Given the description of an element on the screen output the (x, y) to click on. 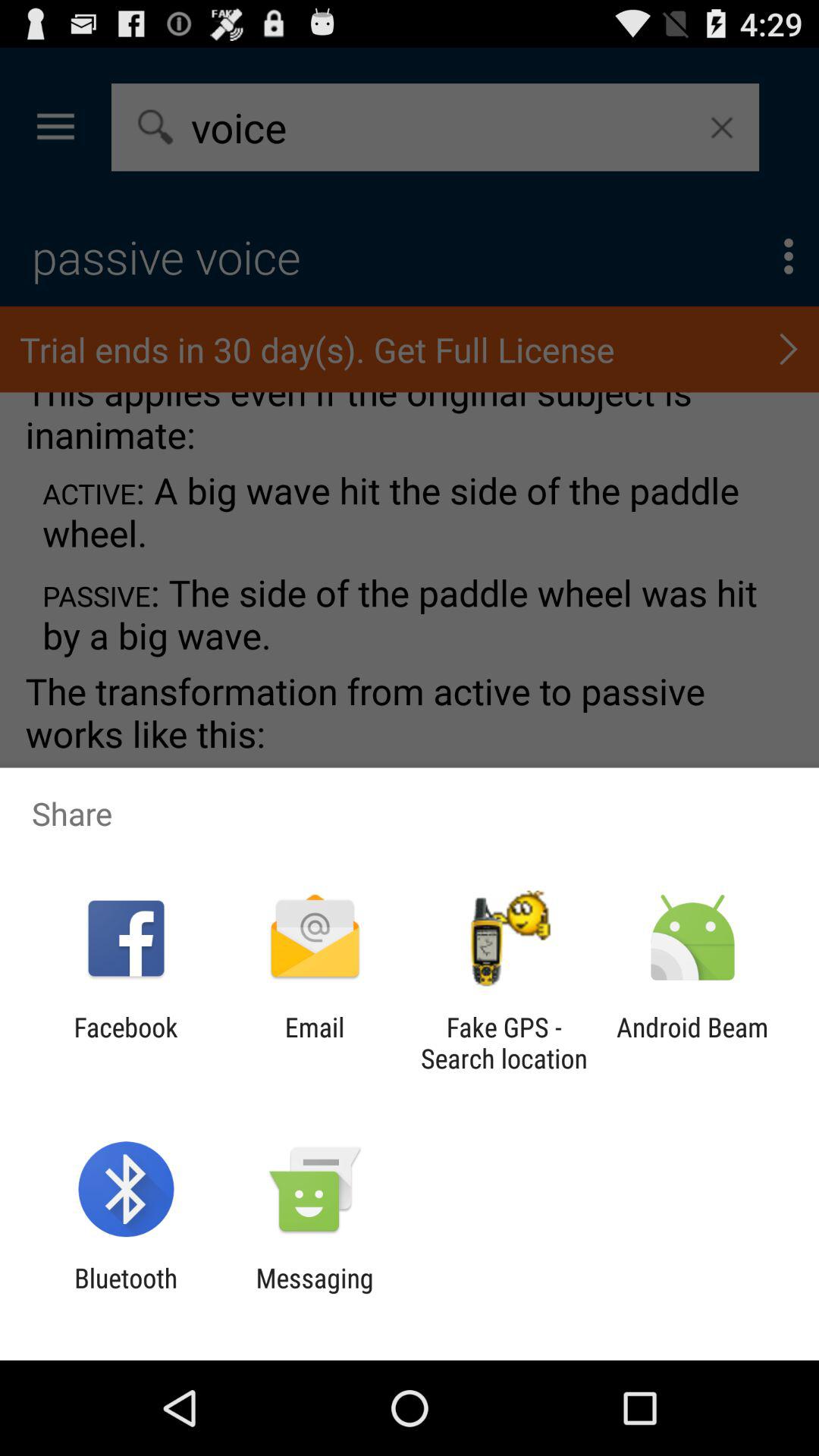
flip to fake gps search (503, 1042)
